Given the description of an element on the screen output the (x, y) to click on. 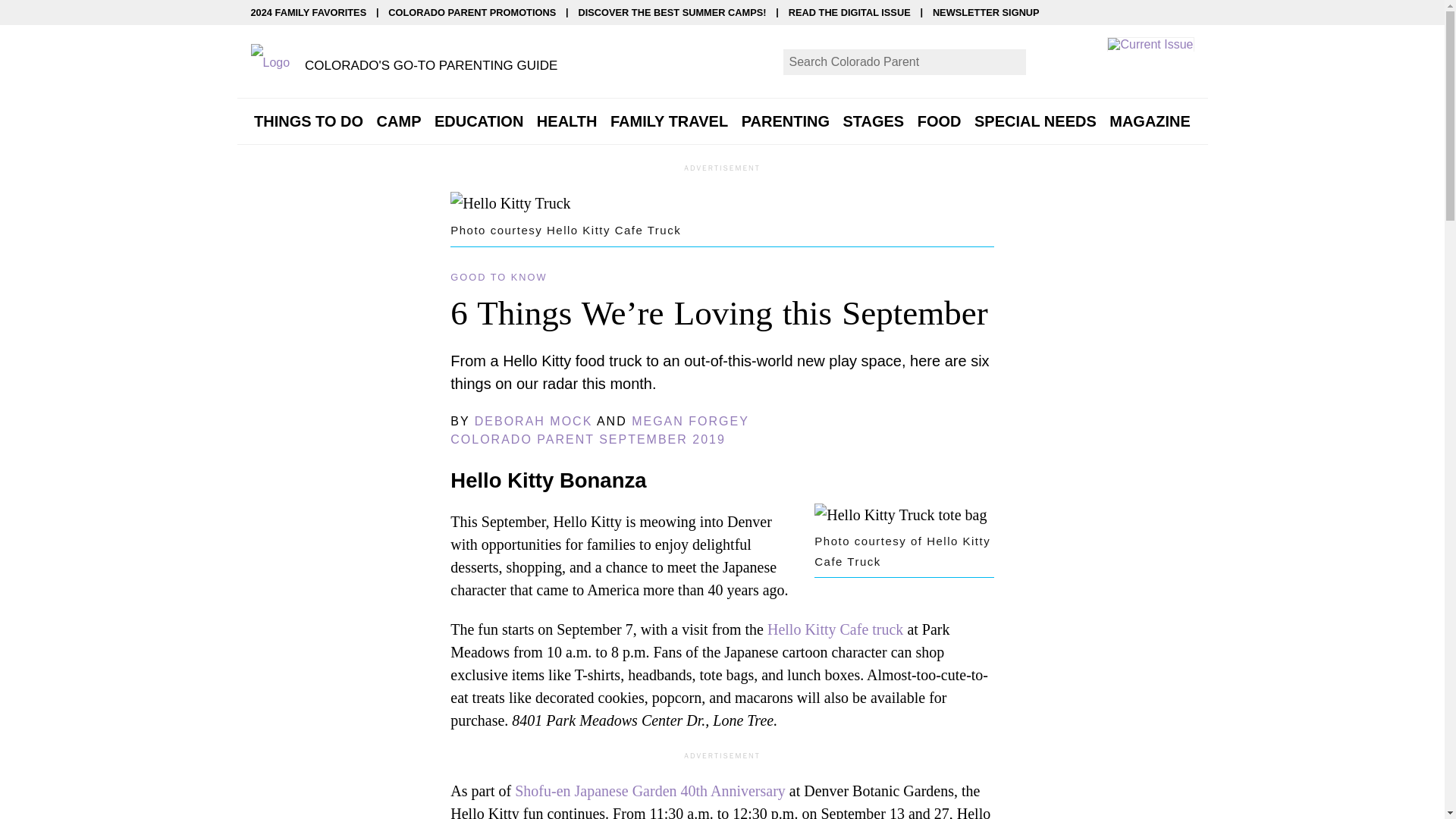
FOOD (938, 121)
CAMP (399, 121)
EDUCATION (477, 121)
NEWSLETTER SIGNUP (986, 12)
READ THE DIGITAL ISSUE (850, 12)
COLORADO PARENT PROMOTIONS (472, 12)
DEBORAH MOCK (533, 420)
MEGAN FORGEY (690, 420)
2024 FAMILY FAVORITES (308, 12)
FAMILY TRAVEL (669, 121)
STAGES (873, 121)
MAGAZINE (1150, 121)
HEALTH (566, 121)
THINGS TO DO (307, 121)
GOOD TO KNOW (498, 276)
